Given the description of an element on the screen output the (x, y) to click on. 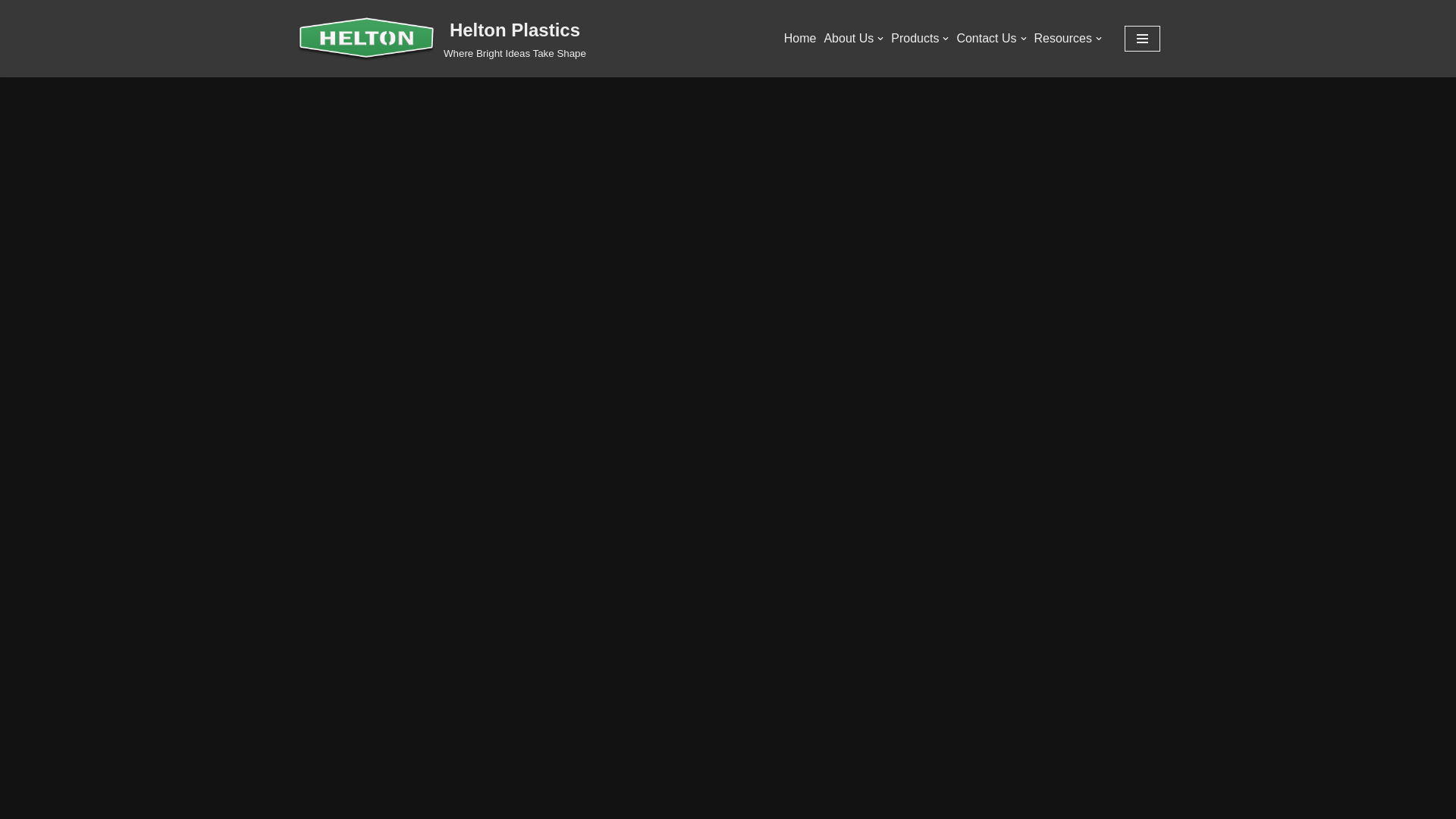
Skip to content (440, 38)
About Us (11, 31)
Products (853, 38)
Helton Plastics (920, 38)
Home (440, 38)
